Given the description of an element on the screen output the (x, y) to click on. 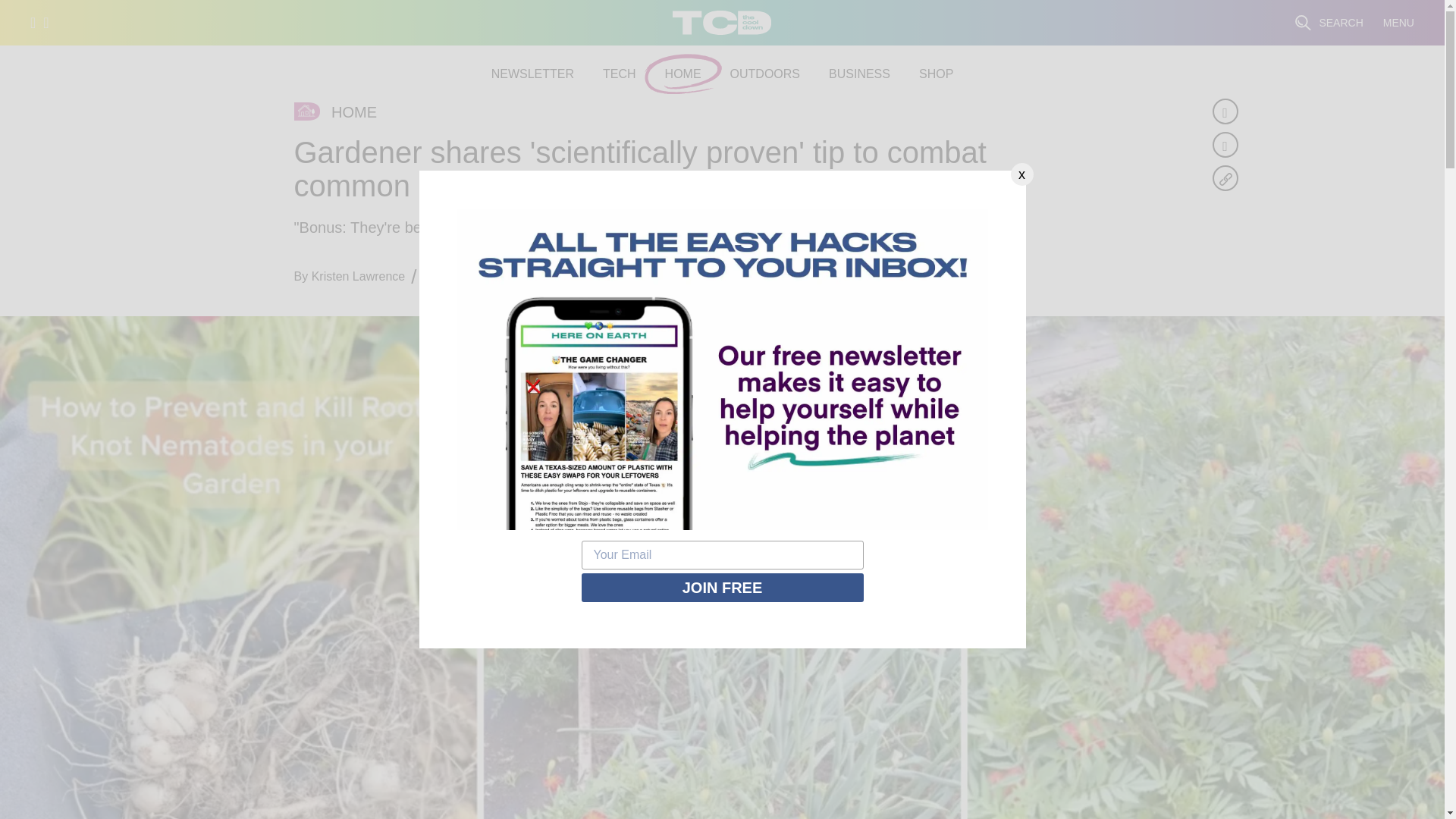
BUSINESS (858, 73)
Join Free (721, 587)
NEWSLETTER (532, 73)
SEARCH (1328, 22)
OUTDOORS (764, 73)
Twitter (1224, 144)
SHOP (935, 73)
HOME (683, 73)
Facebook (1224, 111)
TECH (619, 73)
MENU (1398, 22)
